Given the description of an element on the screen output the (x, y) to click on. 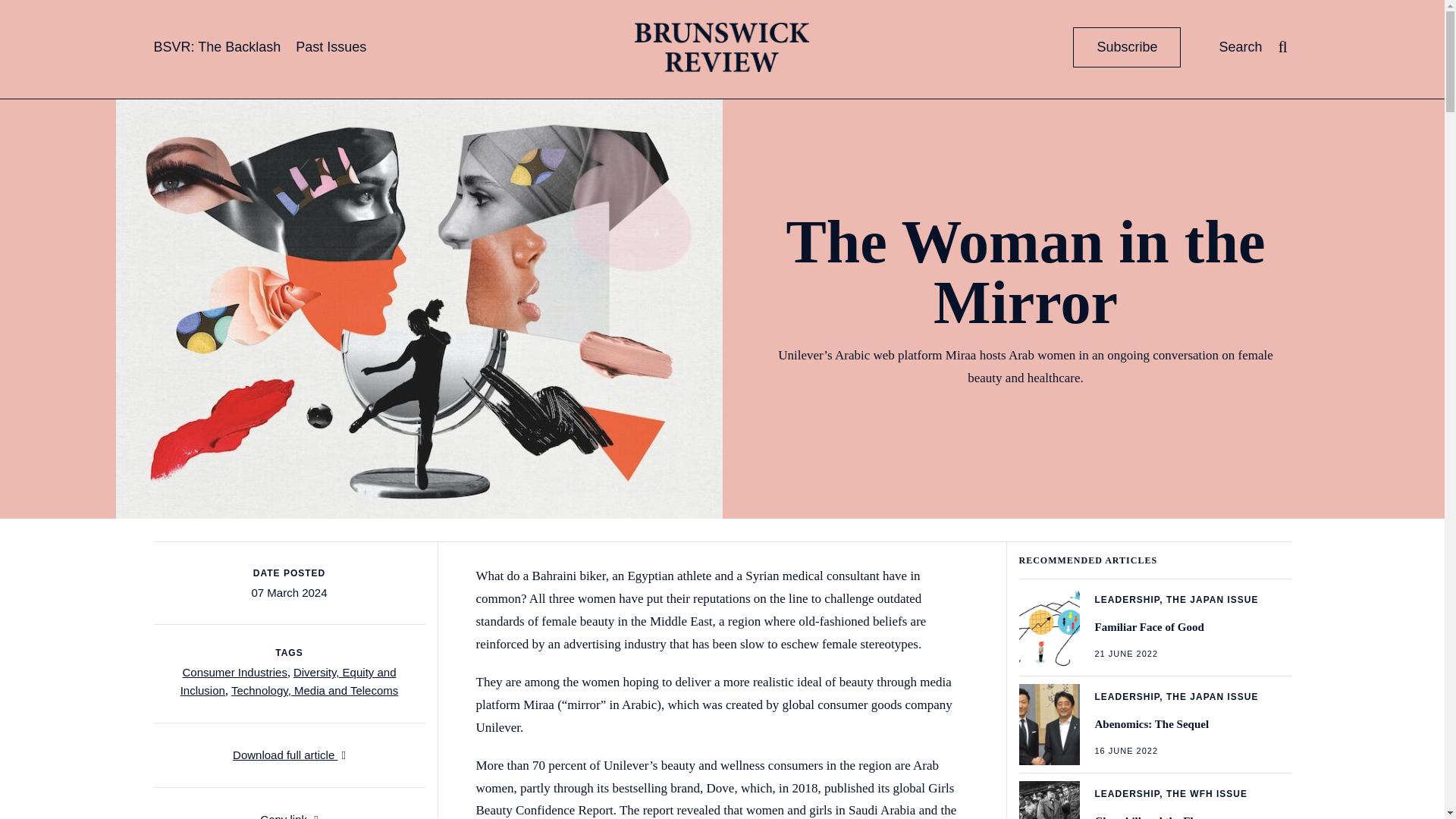
UP (1155, 796)
Past Issues (1406, 8)
Technology, Media and Telecoms (330, 47)
Consumer Industries (314, 689)
Diversity, Equity and Inclusion (234, 671)
Brunswick Review (288, 680)
BSVR: The Backlash (722, 47)
Copy link (216, 47)
